Given the description of an element on the screen output the (x, y) to click on. 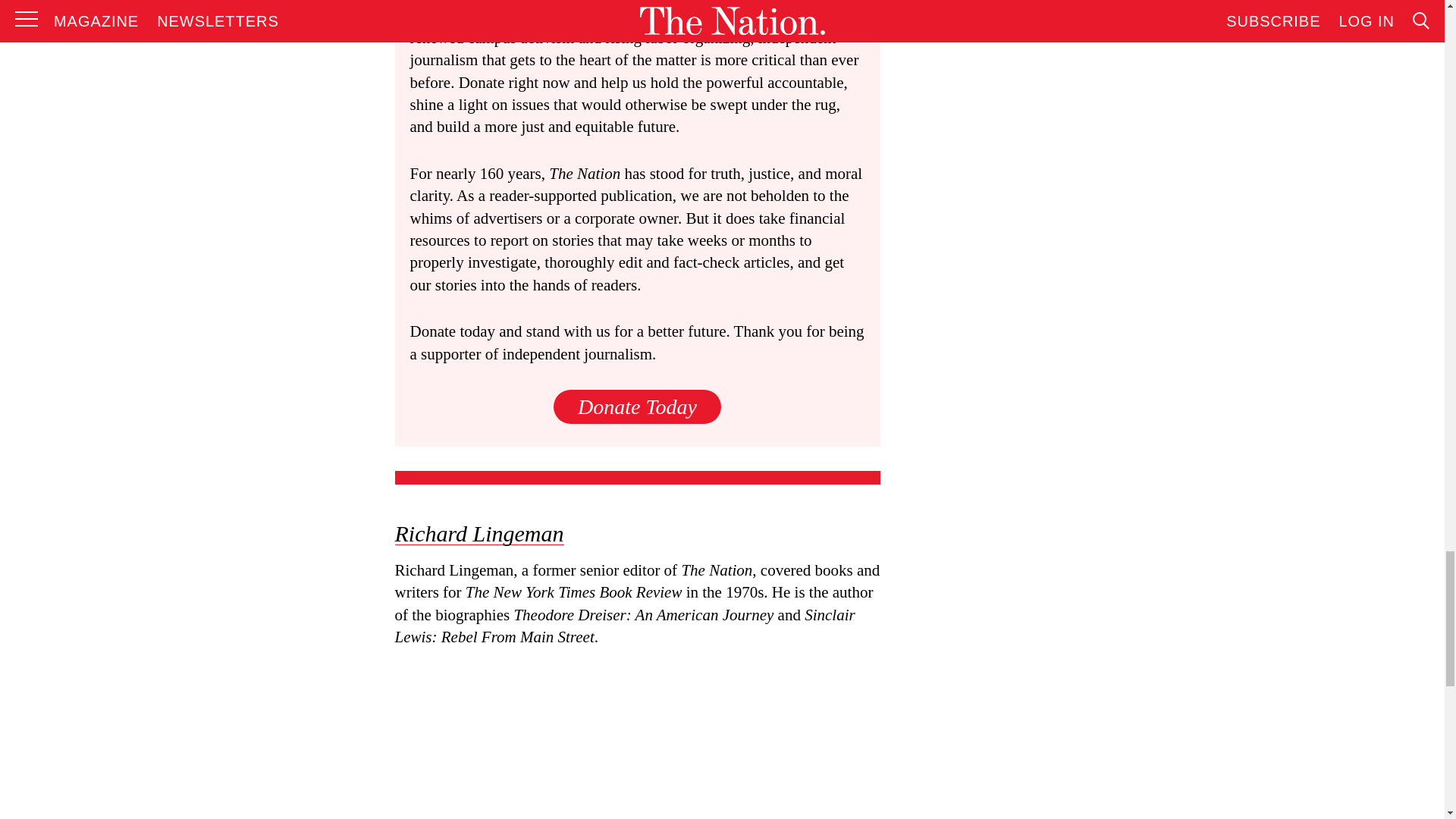
Donate Today (636, 406)
